Given the description of an element on the screen output the (x, y) to click on. 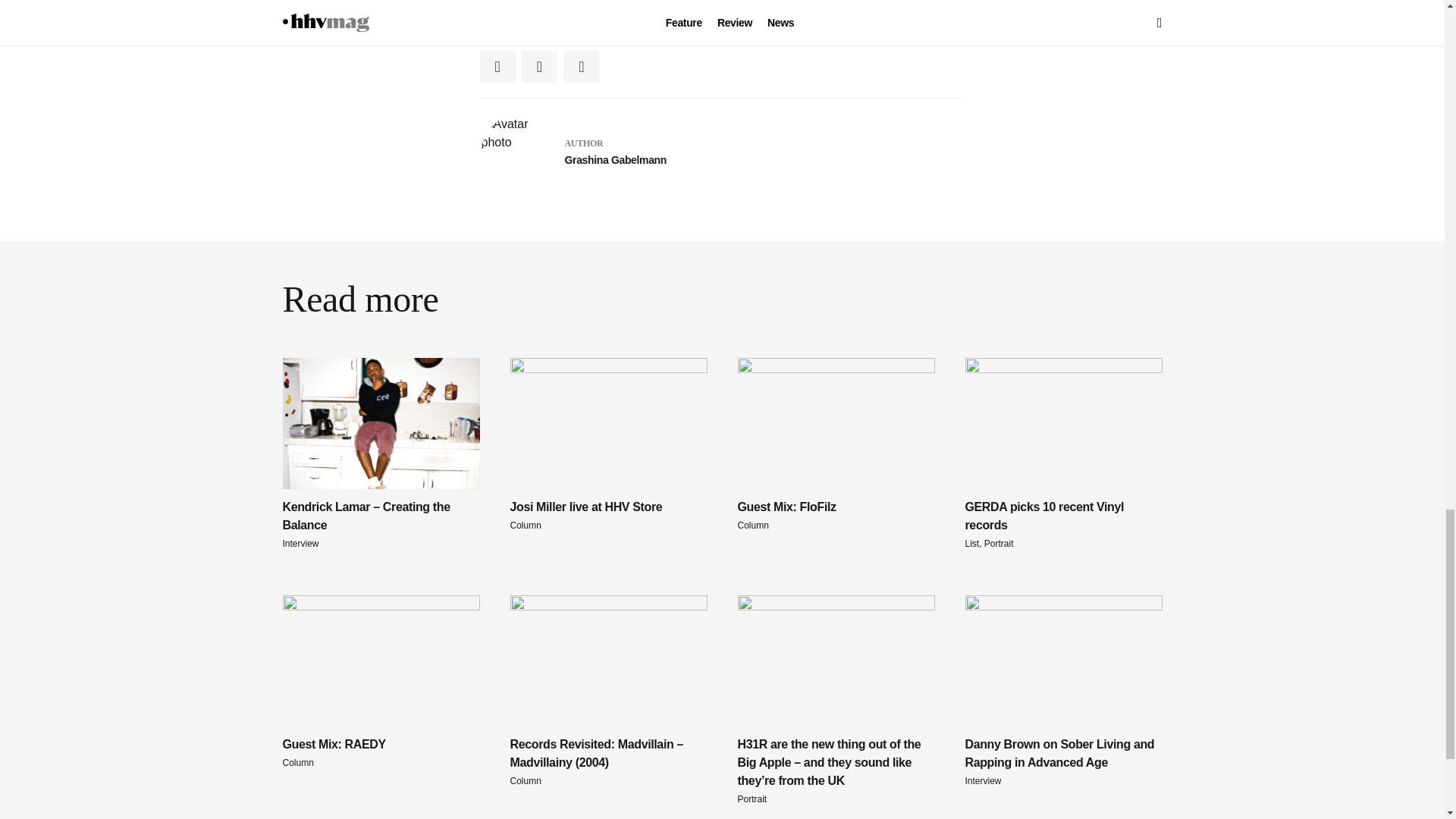
The Live Report (380, 682)
Hip Hop (1062, 453)
Grashina Gabelmann (618, 9)
Kendrick Lamar (697, 9)
